Given the description of an element on the screen output the (x, y) to click on. 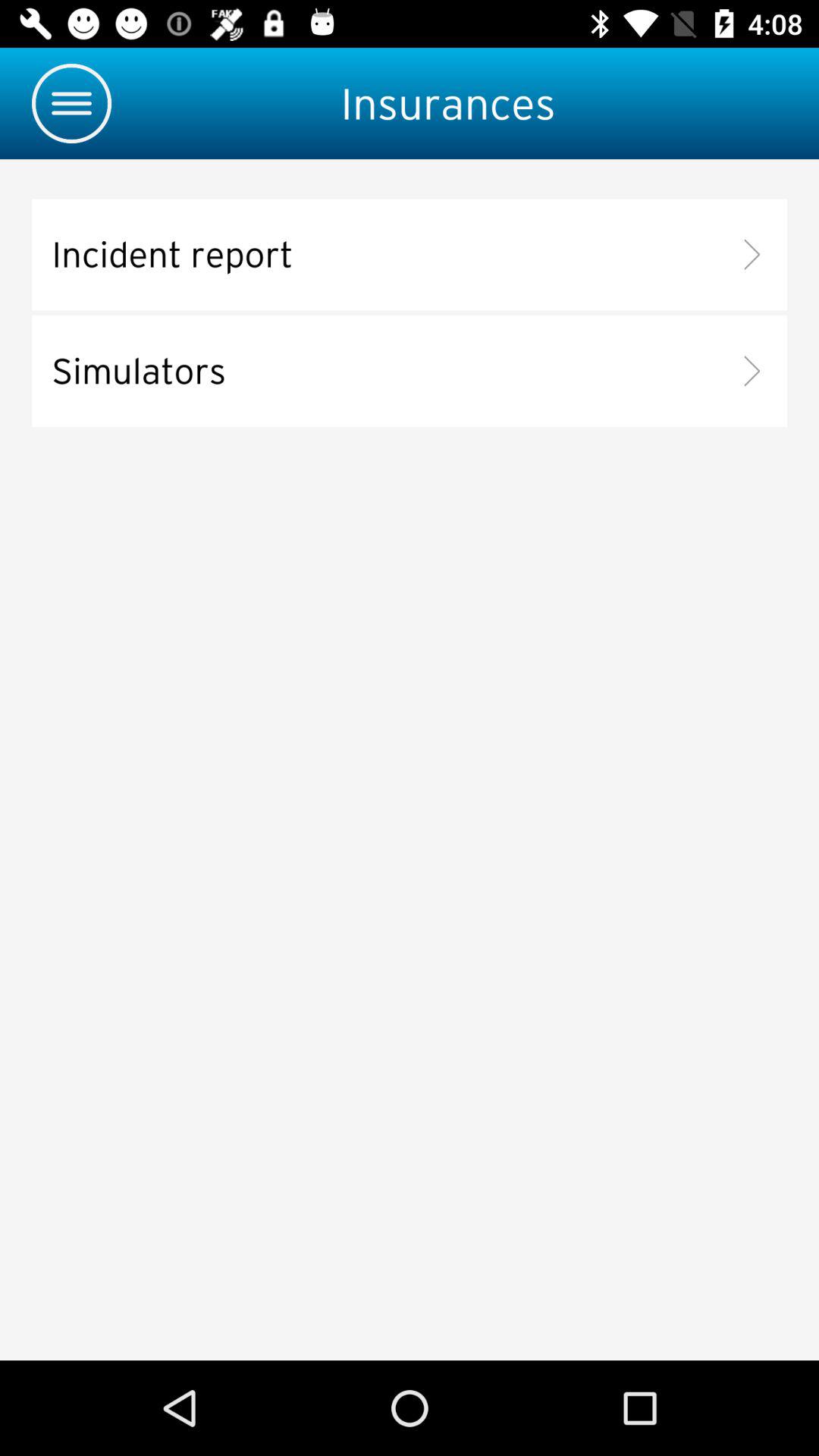
select to file a report (409, 254)
